Given the description of an element on the screen output the (x, y) to click on. 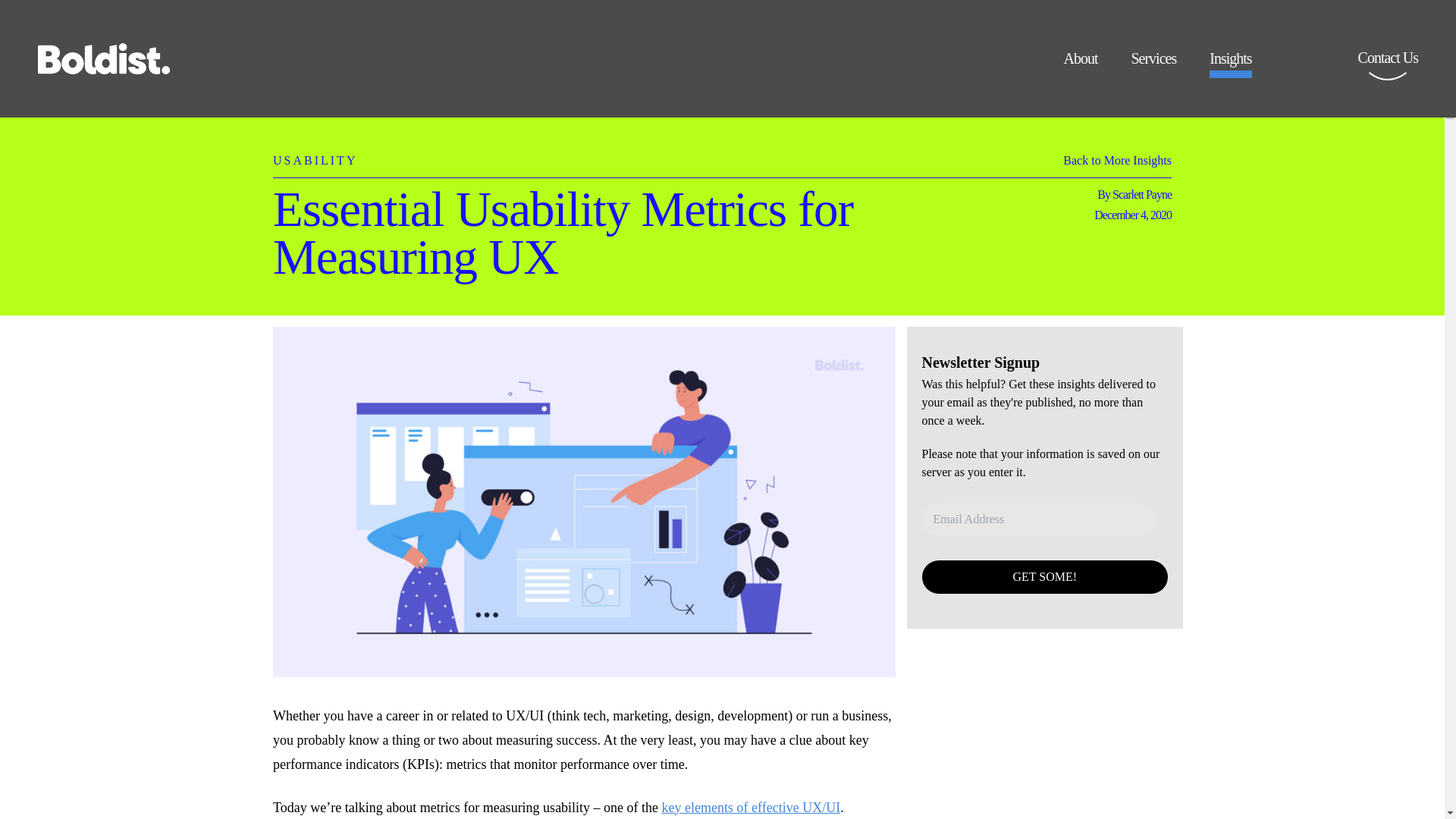
About (1079, 63)
Back to More Insights (1117, 164)
Scarlett Payne (1142, 194)
Insights (1229, 63)
GET SOME! (1045, 576)
USABILITY (314, 152)
Services (1153, 63)
GET SOME! (1045, 576)
Contact Us (1388, 68)
Posts by Scarlett Payne (1142, 194)
